Given the description of an element on the screen output the (x, y) to click on. 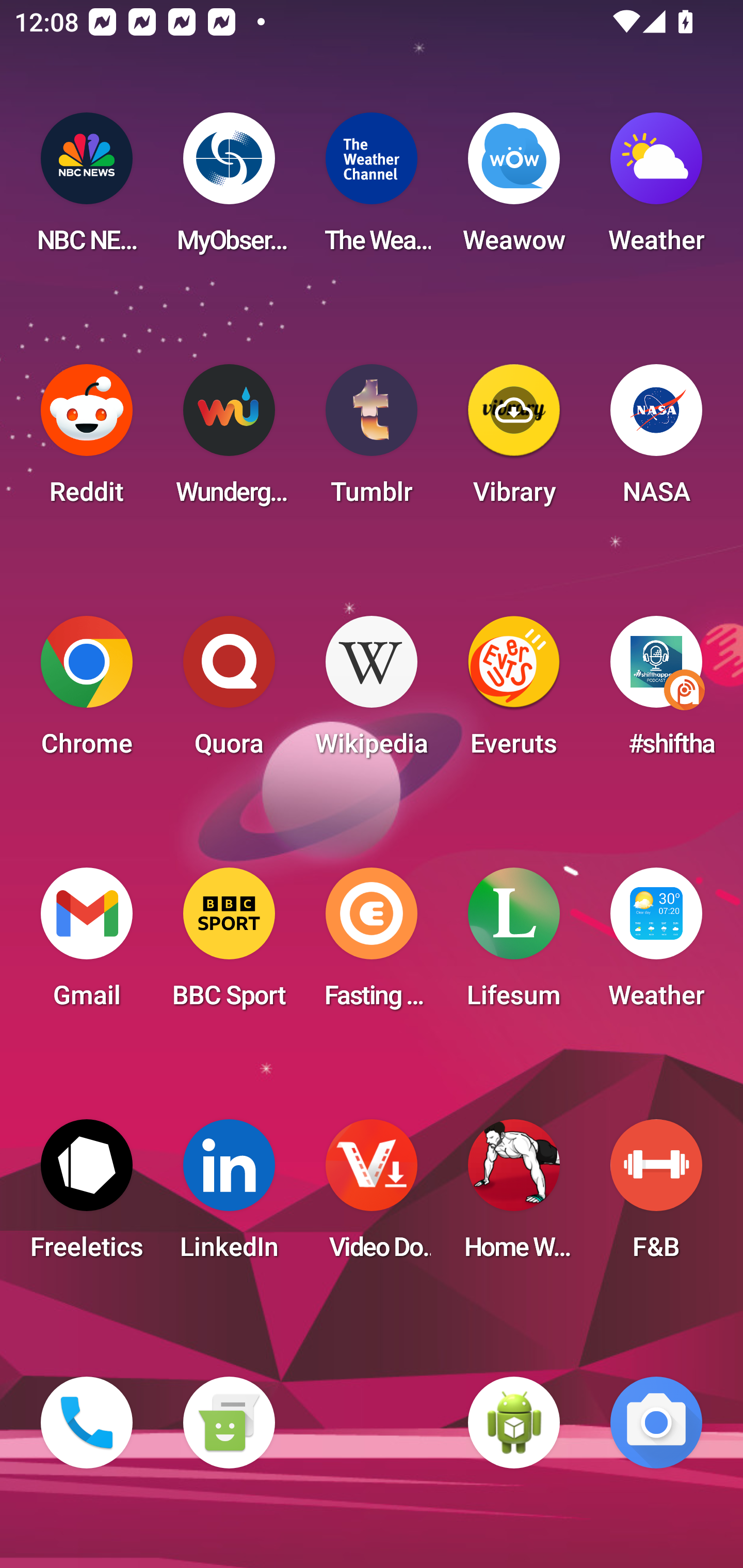
NBC NEWS (86, 188)
MyObservatory (228, 188)
The Weather Channel (371, 188)
Weawow (513, 188)
Weather (656, 188)
Reddit (86, 440)
Wunderground (228, 440)
Tumblr (371, 440)
Vibrary (513, 440)
NASA (656, 440)
Chrome (86, 692)
Quora (228, 692)
Wikipedia (371, 692)
Everuts (513, 692)
#shifthappens in the Digital Workplace Podcast (656, 692)
Gmail (86, 943)
BBC Sport (228, 943)
Fasting Coach (371, 943)
Lifesum (513, 943)
Weather (656, 943)
Freeletics (86, 1195)
LinkedIn (228, 1195)
Video Downloader & Ace Player (371, 1195)
Home Workout (513, 1195)
F&B (656, 1195)
Phone (86, 1422)
Messaging (228, 1422)
WebView Browser Tester (513, 1422)
Camera (656, 1422)
